Given the description of an element on the screen output the (x, y) to click on. 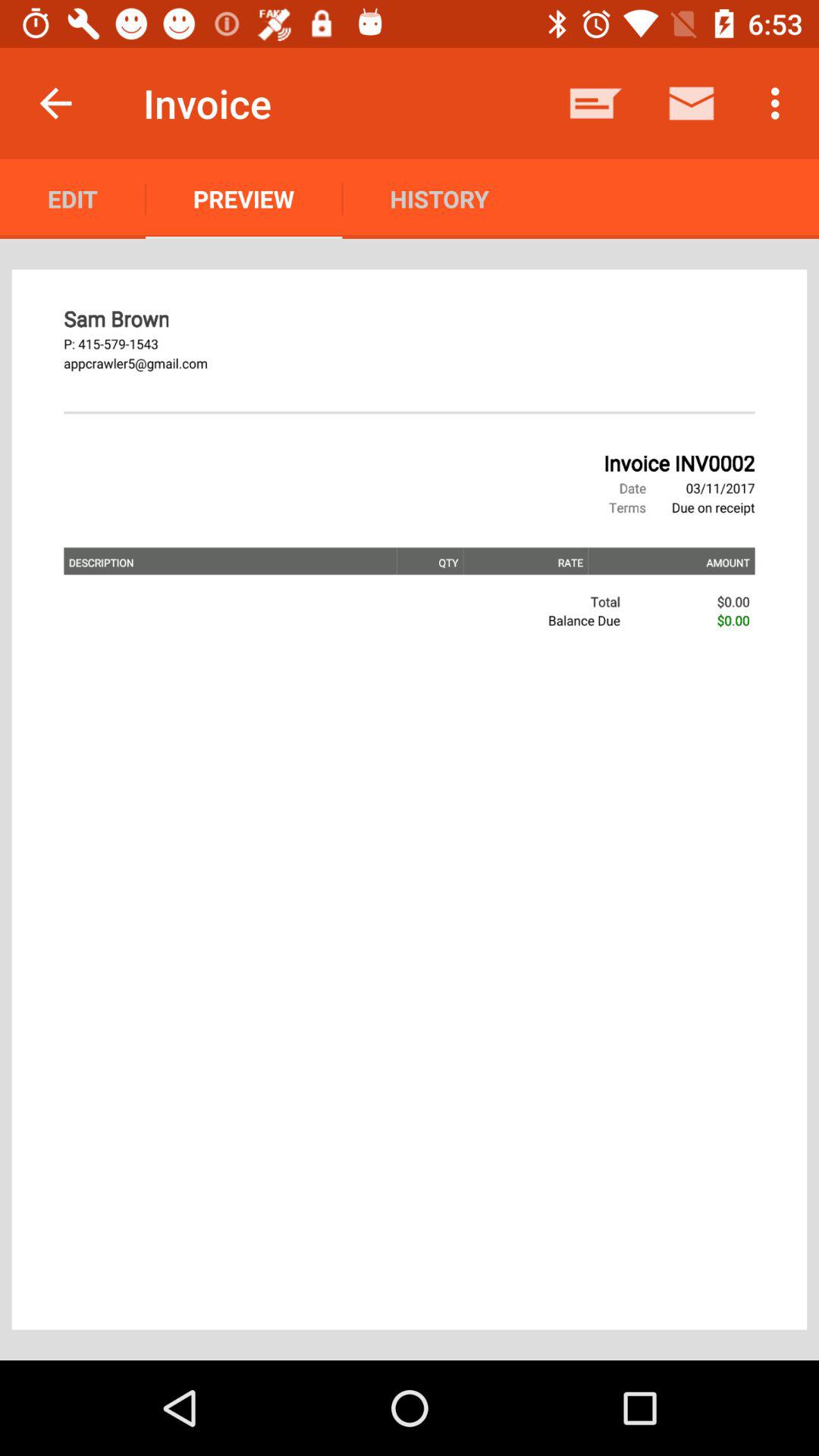
turn off icon next to the history icon (595, 103)
